Given the description of an element on the screen output the (x, y) to click on. 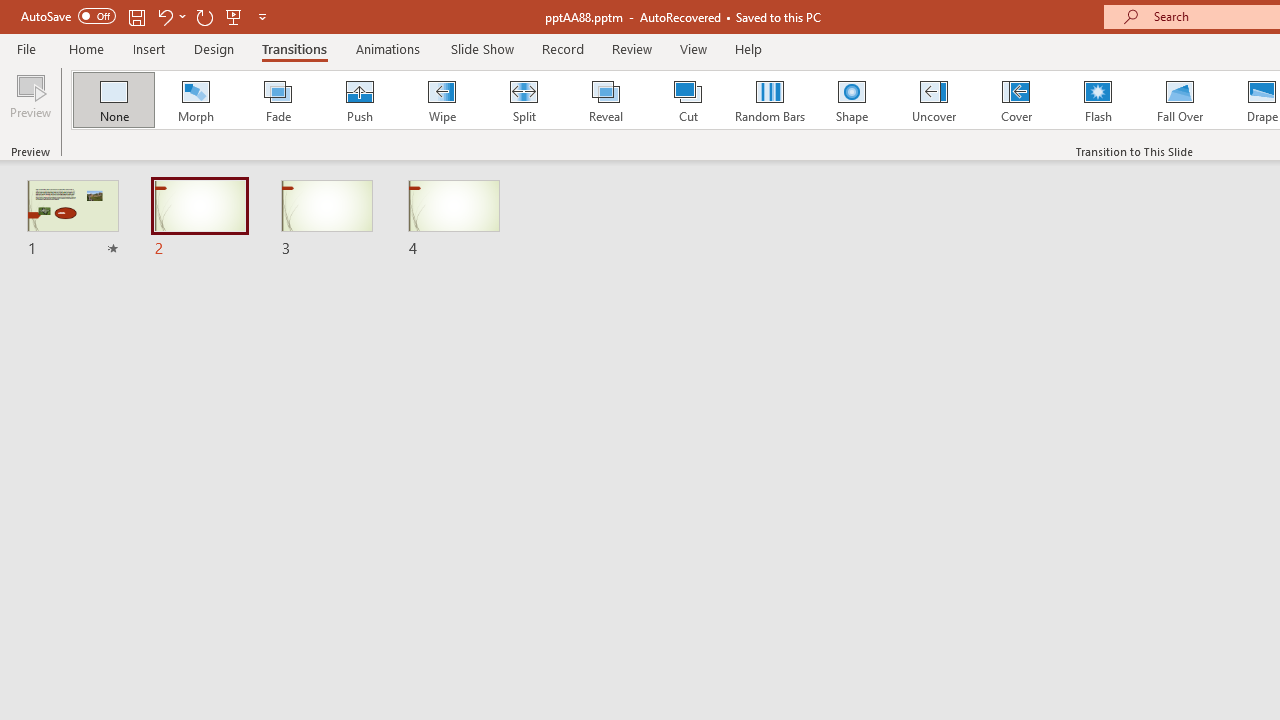
Fade (277, 100)
Cover (1016, 100)
Wipe (441, 100)
Push (359, 100)
Morph (195, 100)
Reveal (605, 100)
